Given the description of an element on the screen output the (x, y) to click on. 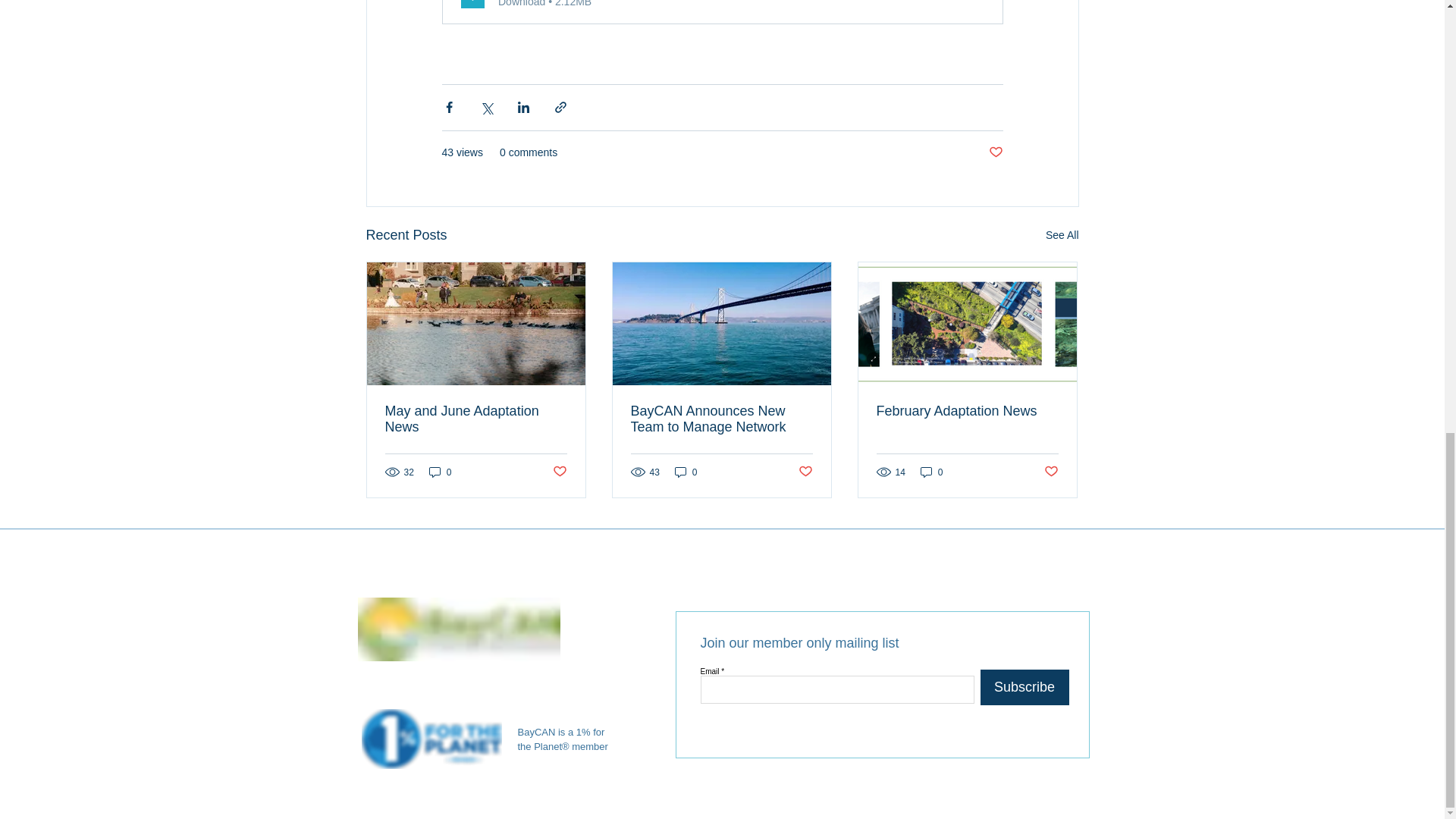
Post not marked as liked (558, 471)
Post not marked as liked (995, 152)
See All (1061, 235)
May and June Adaptation News (476, 418)
0 (440, 472)
Post not marked as liked (804, 471)
BayCAN Announces New Team to Manage Network (721, 418)
0 (685, 472)
